Given the description of an element on the screen output the (x, y) to click on. 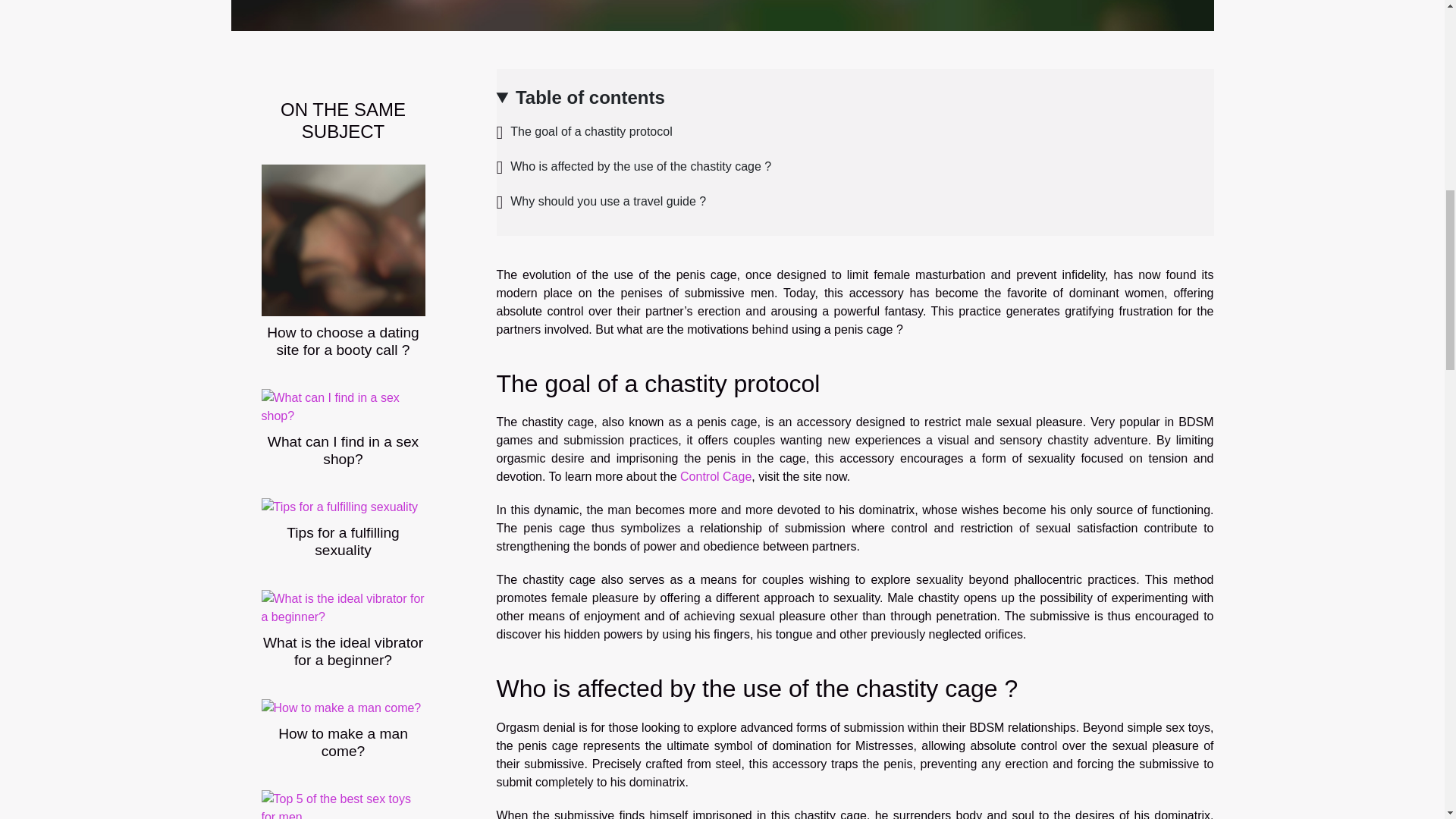
Tips for a fulfilling sexuality (342, 540)
What is the ideal vibrator for a beginner? (343, 650)
How to choose a dating site for a booty call ? (342, 340)
Who is affected by the use of the chastity cage ? (633, 165)
The goal of a chastity protocol (583, 131)
How to make a man come? (340, 707)
What is the ideal vibrator for a beginner? (343, 650)
Top 5 of the best sex toys for men (342, 807)
What is the ideal vibrator for a beginner? (342, 606)
What can I find in a sex shop? (343, 450)
